Given the description of an element on the screen output the (x, y) to click on. 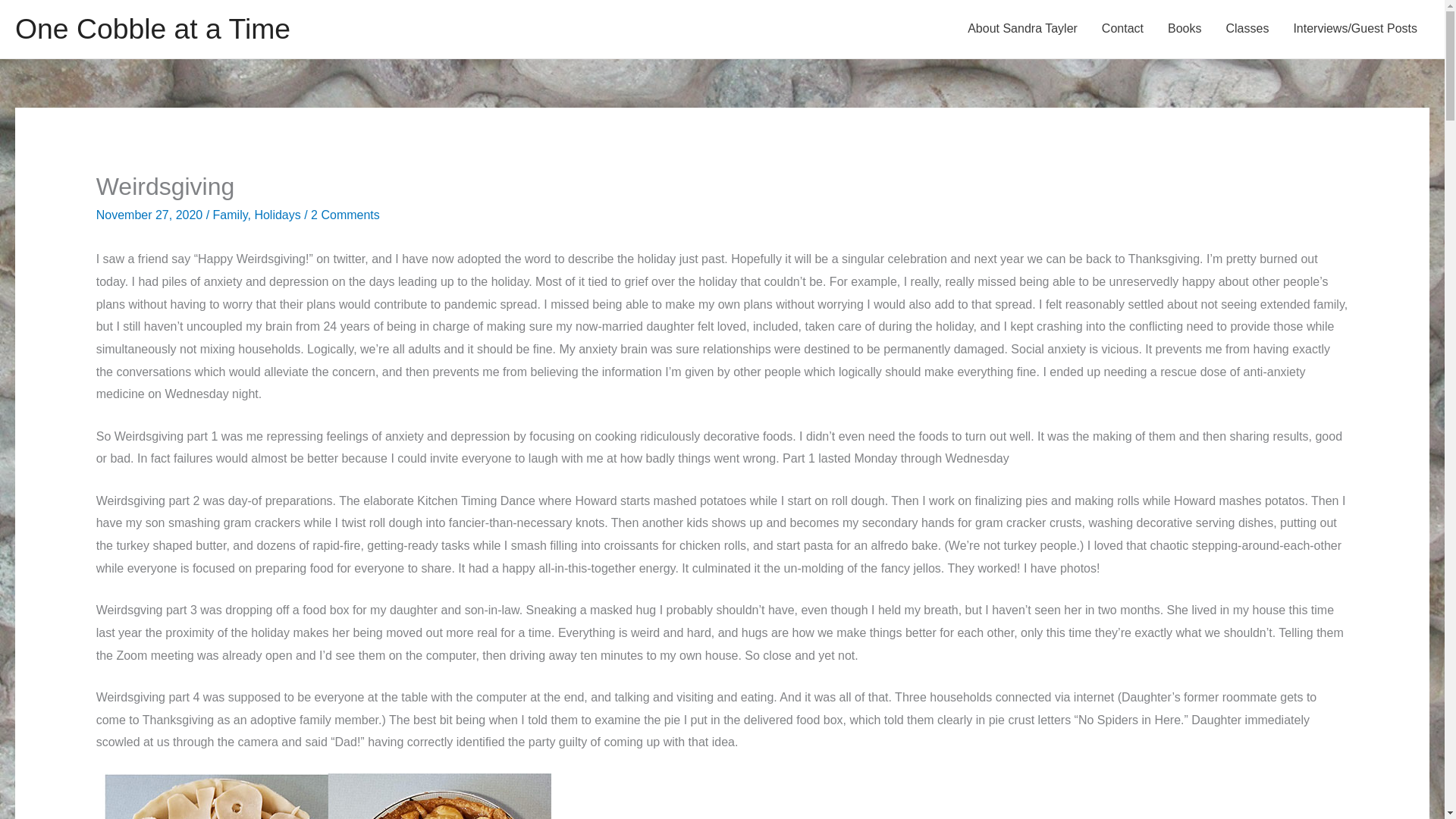
Classes (1246, 29)
2 Comments (345, 214)
Holidays (276, 214)
One Cobble at a Time (151, 29)
Family (229, 214)
About Sandra Tayler (1022, 29)
Contact (1122, 29)
Books (1184, 29)
